Given the description of an element on the screen output the (x, y) to click on. 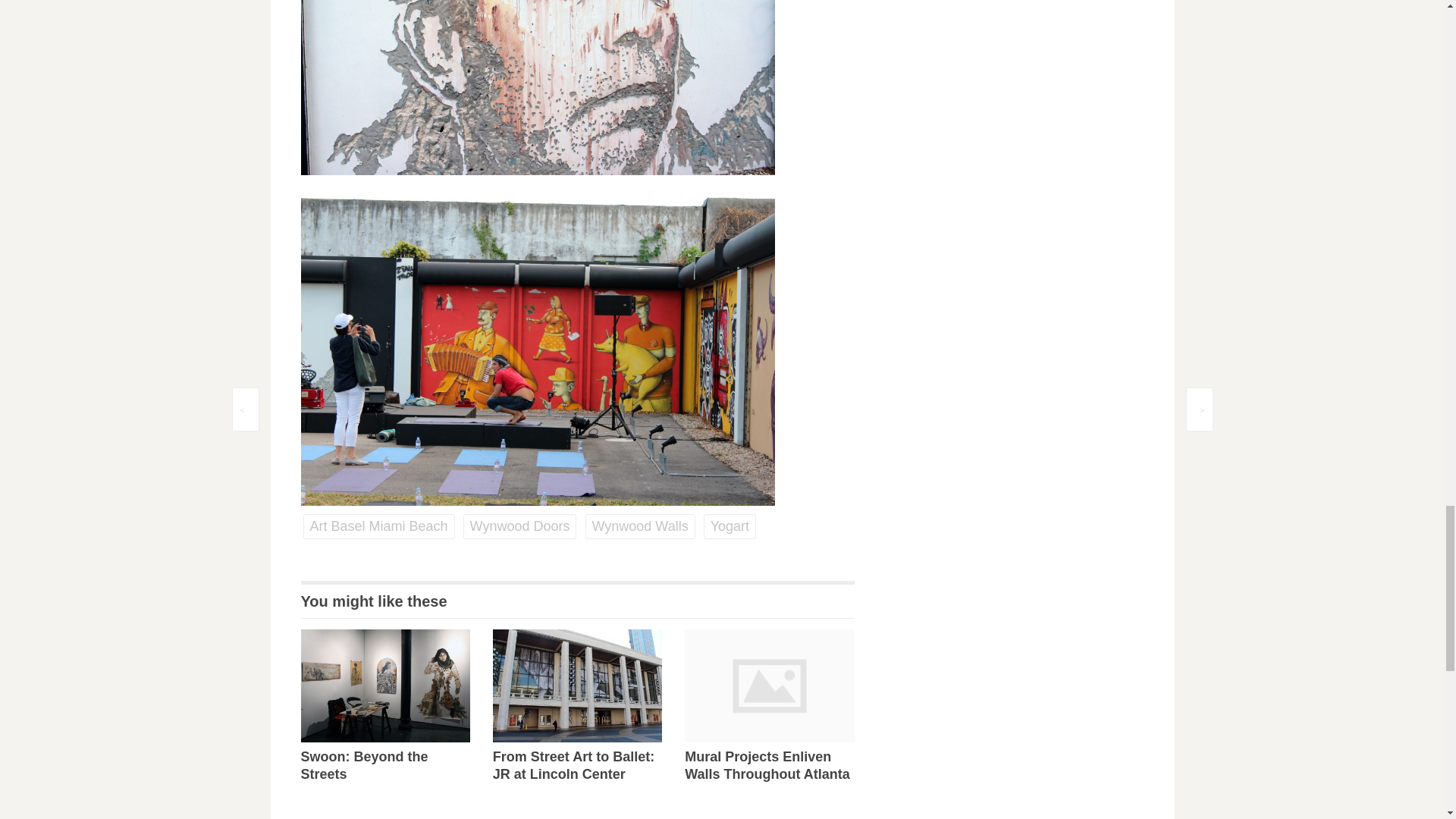
Art Basel Miami Beach (378, 526)
